Given the description of an element on the screen output the (x, y) to click on. 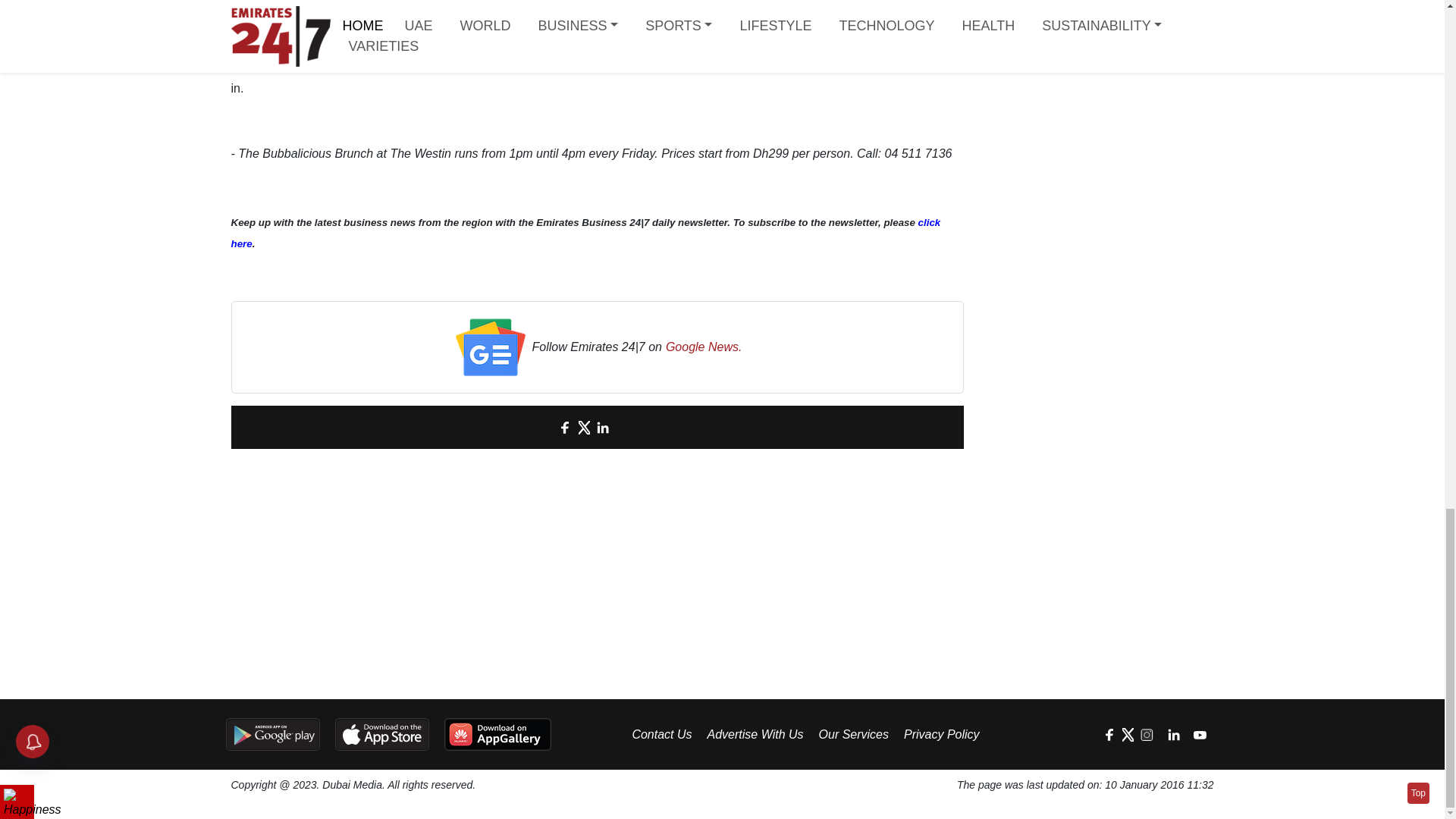
click here (585, 233)
3rd party ad content (353, 581)
